Given the description of an element on the screen output the (x, y) to click on. 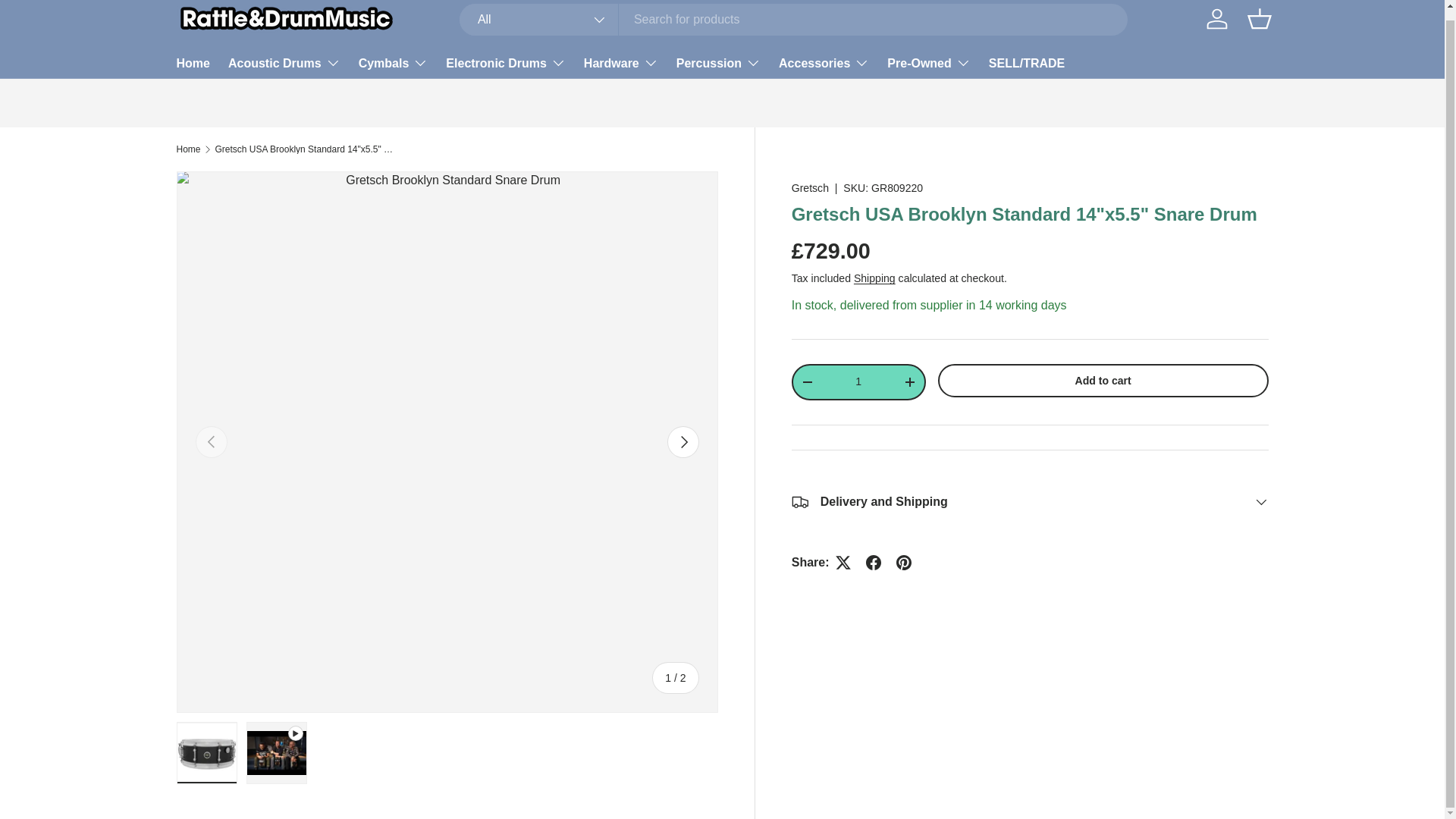
Home (192, 62)
Skip to content (69, 11)
Tweet on X (843, 562)
All (539, 20)
Log in (1216, 19)
Basket (1258, 19)
Acoustic Drums (284, 62)
Cymbals (393, 62)
Pin on Pinterest (903, 562)
1 (858, 381)
Share on Facebook (873, 562)
